Given the description of an element on the screen output the (x, y) to click on. 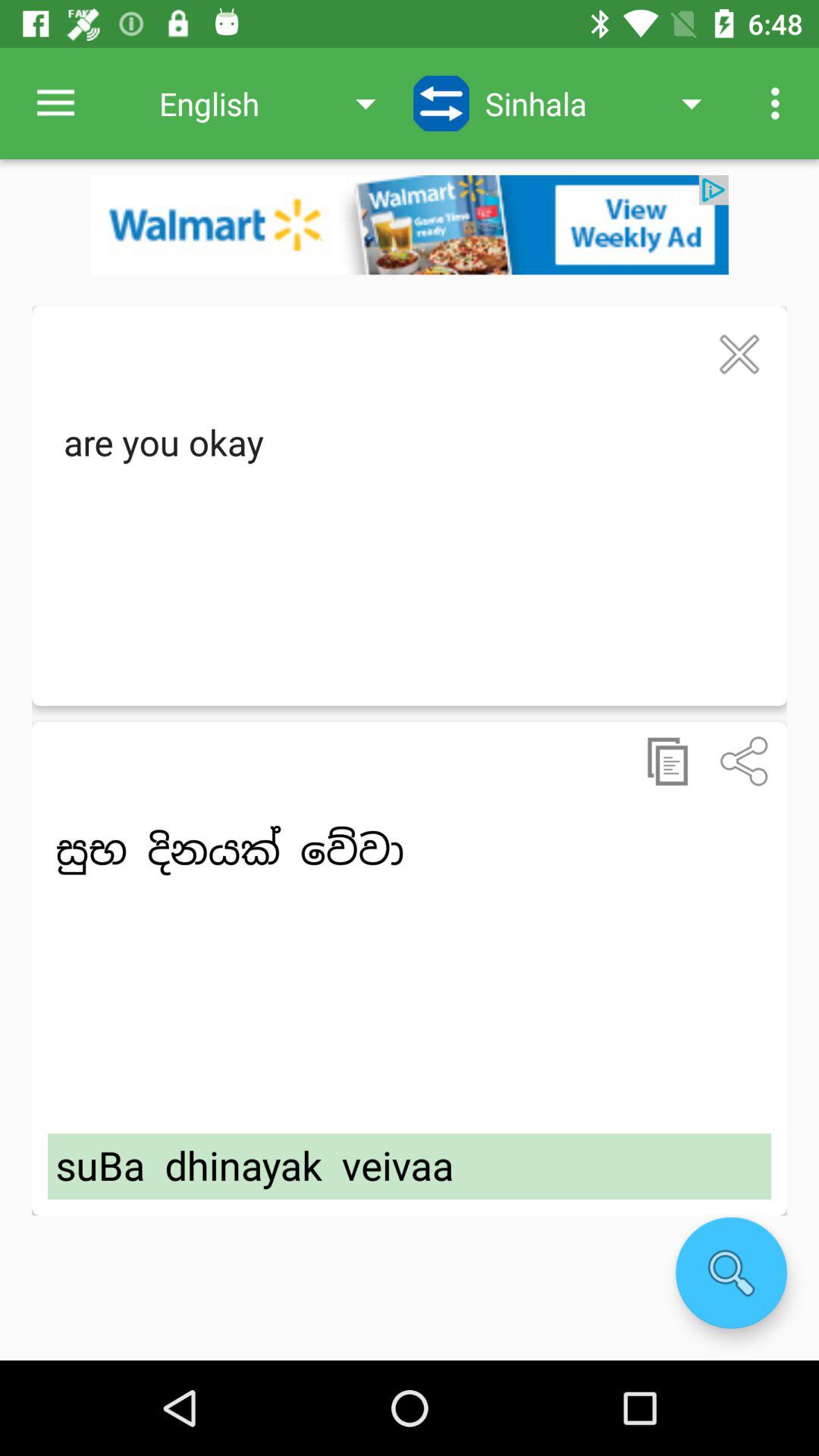
press the item next to english (55, 103)
